Given the description of an element on the screen output the (x, y) to click on. 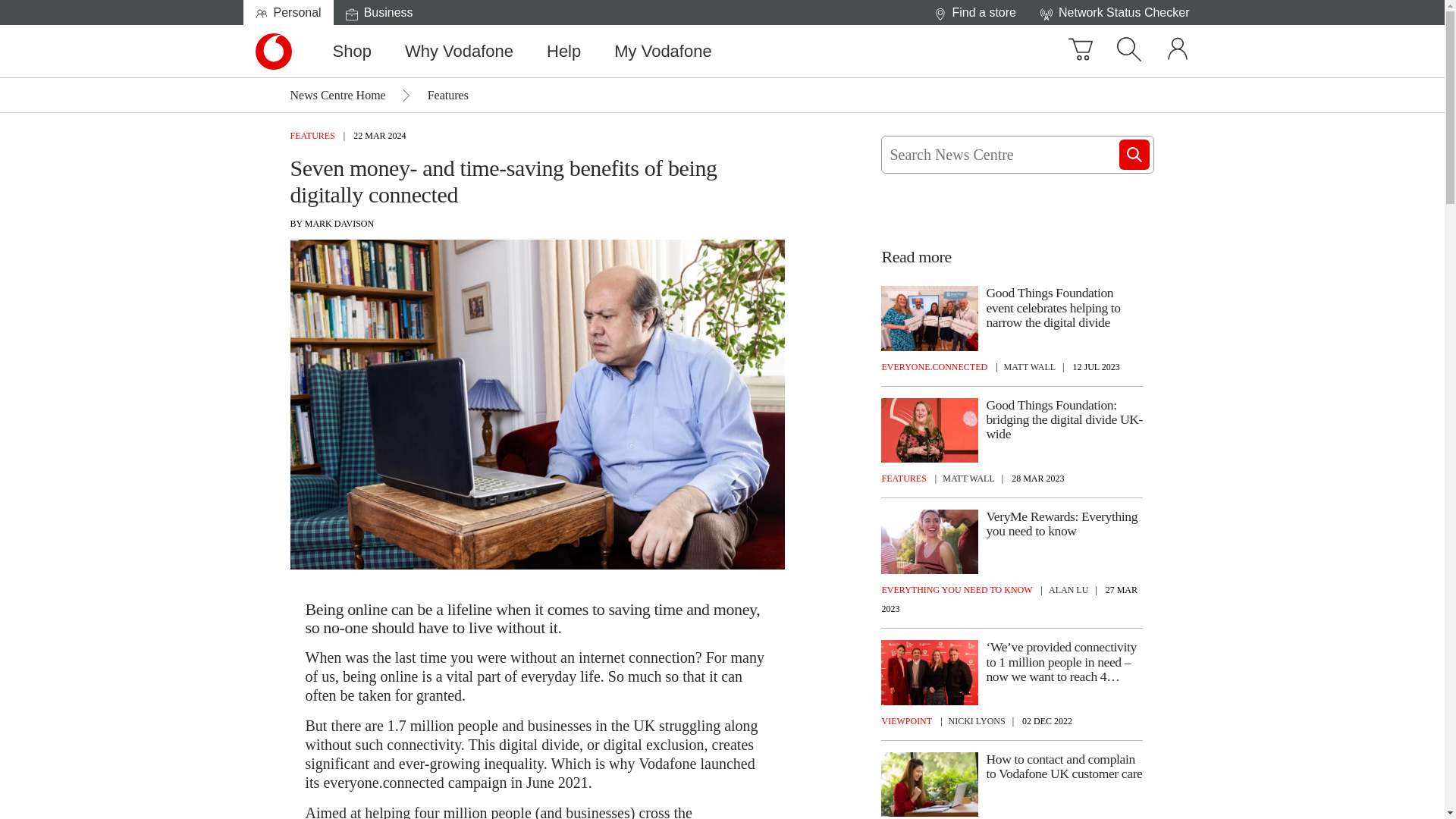
HappySmilingCouple (929, 541)
EVERYONE.CONNECTED (935, 364)
Good Things Foundation: bridging the digital divide UK-wide (1063, 420)
MATT WALL (968, 478)
Shop (272, 51)
Young woman smiling and pumping fist at laptop (351, 51)
Help (929, 784)
Network Status Checker (563, 51)
My Vodafone (1114, 12)
Business (663, 51)
Vodafone logo (379, 12)
Personal (272, 51)
FEATURES (288, 12)
